Given the description of an element on the screen output the (x, y) to click on. 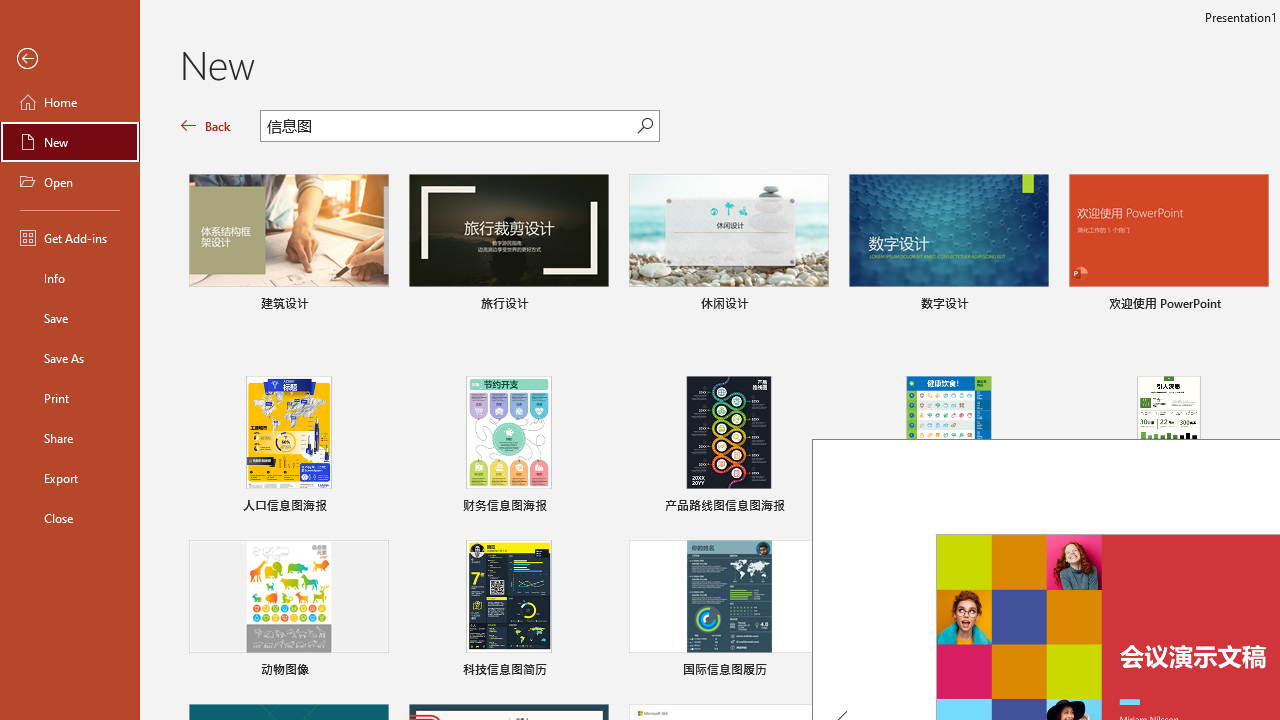
Back (69, 59)
Search for online templates and themes (449, 128)
Export (69, 477)
Start searching (645, 125)
Info (69, 277)
Back (205, 125)
